Given the description of an element on the screen output the (x, y) to click on. 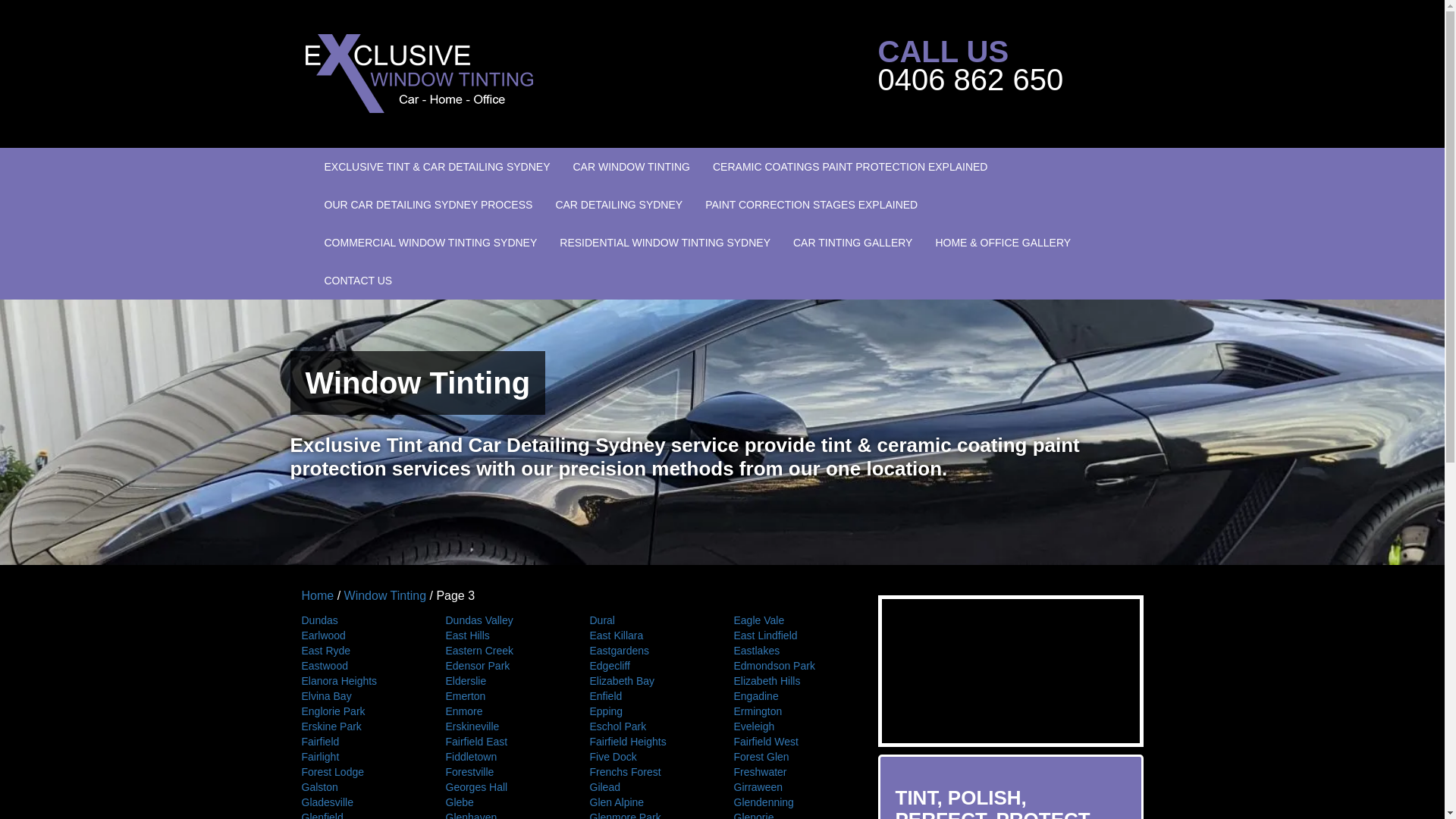
COMMERCIAL WINDOW TINTING SYDNEY Element type: text (430, 242)
Elizabeth Hills Element type: text (793, 680)
CERAMIC COATINGS PAINT PROTECTION EXPLAINED Element type: text (850, 166)
Enfield Element type: text (649, 695)
Glendenning Element type: text (793, 801)
Englorie Park Element type: text (361, 710)
Edgecliff Element type: text (649, 665)
CAR DETAILING SYDNEY Element type: text (618, 204)
Edensor Park Element type: text (505, 665)
Glebe Element type: text (505, 801)
Forest Glen Element type: text (793, 756)
East Lindfield Element type: text (793, 635)
Eveleigh Element type: text (793, 726)
Five Dock Element type: text (649, 756)
Eastern Creek Element type: text (505, 650)
Fairfield West Element type: text (793, 741)
Frenchs Forest Element type: text (649, 771)
RESIDENTIAL WINDOW TINTING SYDNEY Element type: text (664, 242)
Enmore Element type: text (505, 710)
Epping Element type: text (649, 710)
Fiddletown Element type: text (505, 756)
HOME & OFFICE GALLERY Element type: text (1002, 242)
CONTACT US Element type: text (357, 280)
Freshwater Element type: text (793, 771)
Erskineville Element type: text (505, 726)
Fairfield East Element type: text (505, 741)
East Hills Element type: text (505, 635)
Edmondson Park Element type: text (793, 665)
Georges Hall Element type: text (505, 786)
Engadine Element type: text (793, 695)
Elvina Bay Element type: text (361, 695)
Forest Lodge Element type: text (361, 771)
Dural Element type: text (649, 619)
OUR CAR DETAILING SYDNEY PROCESS Element type: text (427, 204)
East Ryde Element type: text (361, 650)
CAR WINDOW TINTING Element type: text (631, 166)
CAR TINTING GALLERY Element type: text (852, 242)
Eastlakes Element type: text (793, 650)
Earlwood Element type: text (361, 635)
PAINT CORRECTION STAGES EXPLAINED Element type: text (810, 204)
Ermington Element type: text (793, 710)
Girraween Element type: text (793, 786)
Gladesville Element type: text (361, 801)
Eastgardens Element type: text (649, 650)
Erskine Park Element type: text (361, 726)
Galston Element type: text (361, 786)
Elizabeth Bay Element type: text (649, 680)
Elderslie Element type: text (505, 680)
Emerton Element type: text (505, 695)
Forestville Element type: text (505, 771)
Window Tinting Element type: text (385, 595)
Dundas Element type: text (361, 619)
Fairfield Element type: text (361, 741)
Eastwood Element type: text (361, 665)
Elanora Heights Element type: text (361, 680)
Eschol Park Element type: text (649, 726)
Fairfield Heights Element type: text (649, 741)
Home Element type: text (317, 595)
Eagle Vale Element type: text (793, 619)
Gilead Element type: text (649, 786)
East Killara Element type: text (649, 635)
Fairlight Element type: text (361, 756)
EXCLUSIVE TINT & CAR DETAILING SYDNEY Element type: text (436, 166)
Glen Alpine Element type: text (649, 801)
Dundas Valley Element type: text (505, 619)
